Given the description of an element on the screen output the (x, y) to click on. 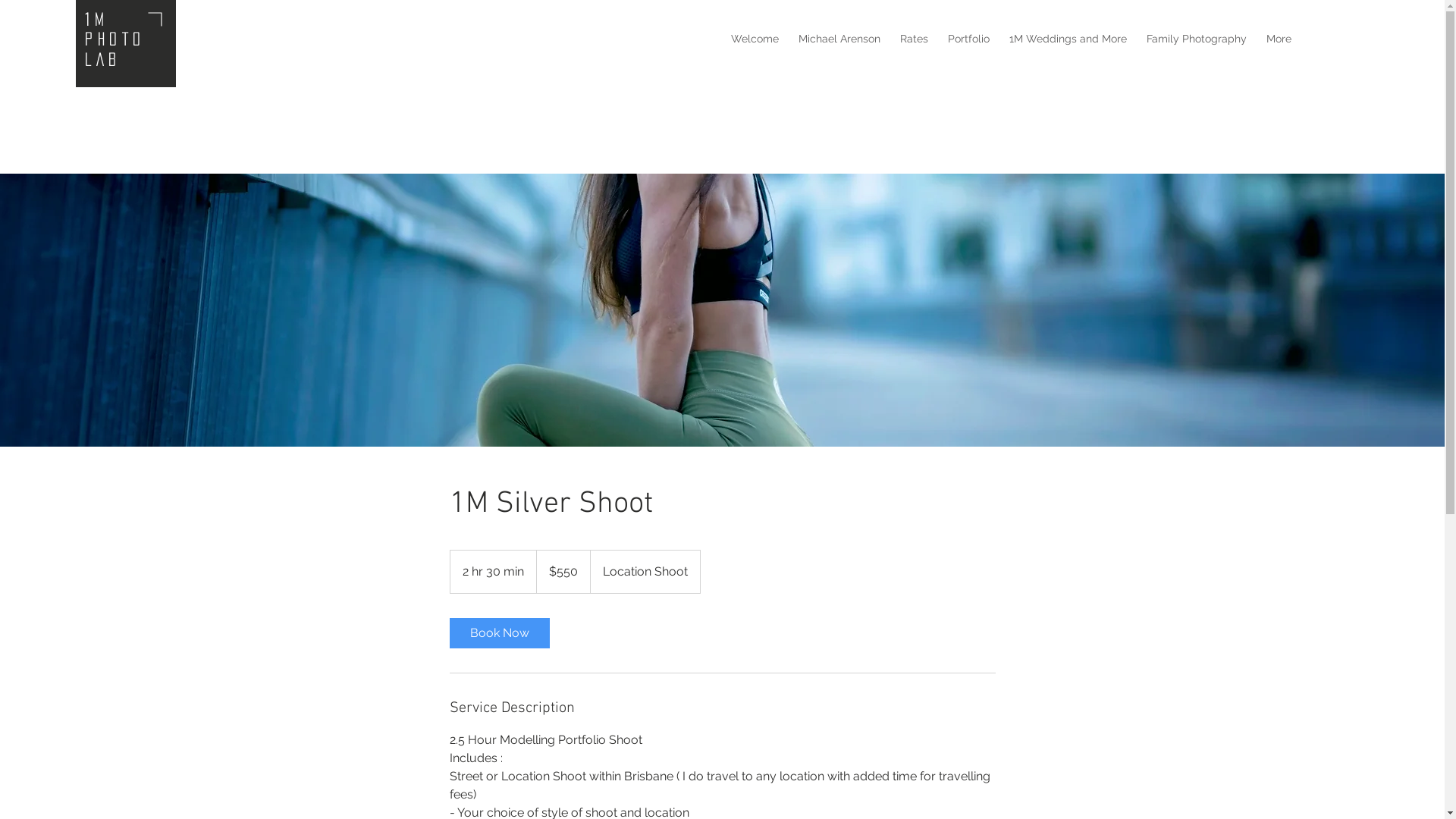
Rates Element type: text (914, 38)
Welcome Element type: text (754, 38)
Family Photography Element type: text (1196, 38)
Michael Arenson Element type: text (839, 38)
Portfolio Element type: text (968, 38)
1M Weddings and More Element type: text (1067, 38)
1M PHOTO Element type: text (114, 28)
Book Now Element type: text (498, 633)
